Given the description of an element on the screen output the (x, y) to click on. 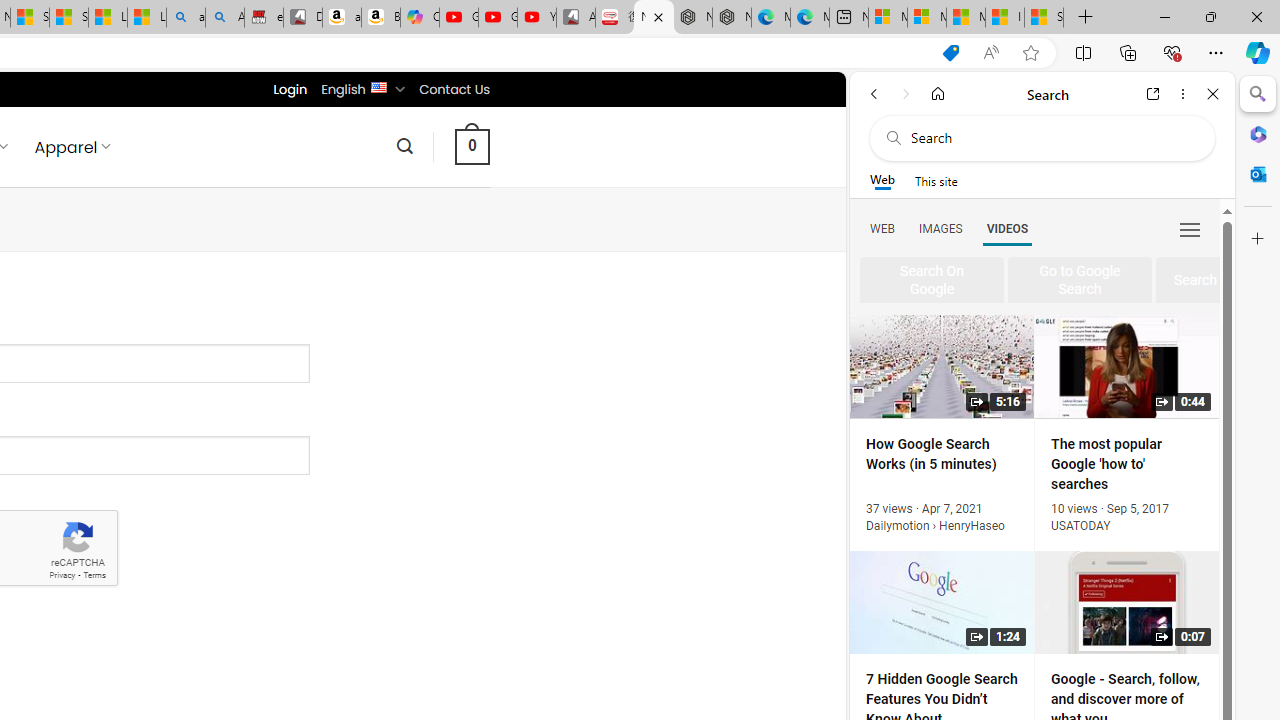
amazon.in/dp/B0CX59H5W7/?tag=gsmcom05-21 (341, 17)
Class: b_serphb (1190, 229)
Home (938, 93)
Search Filter, IMAGES (939, 228)
Microsoft account | Privacy (926, 17)
Class: suggestion-item  (1080, 281)
Search Filter, WEB (882, 228)
Amazon Echo Dot PNG - Search Images (225, 17)
